Given the description of an element on the screen output the (x, y) to click on. 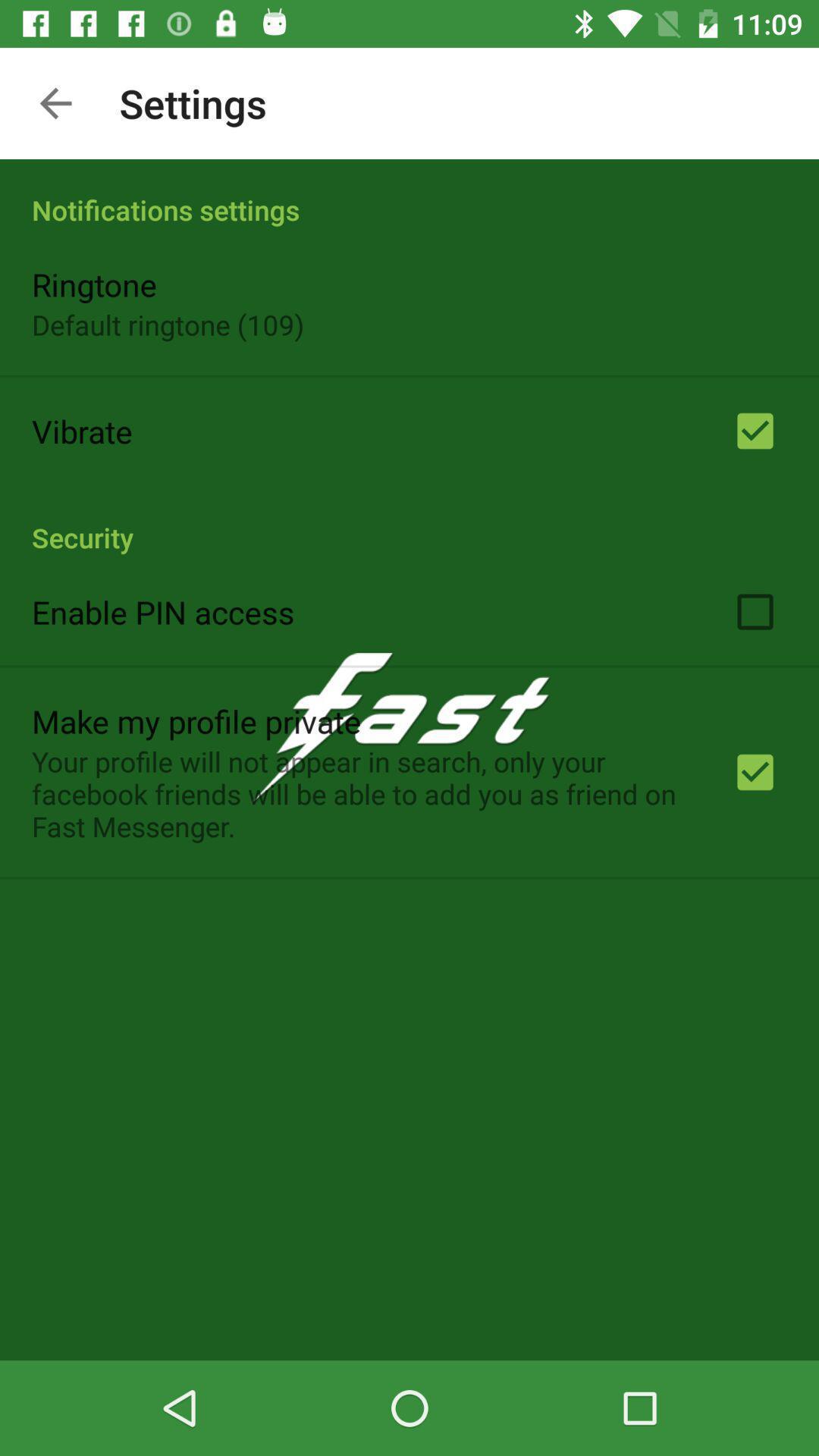
open the app below enable pin access item (196, 720)
